Given the description of an element on the screen output the (x, y) to click on. 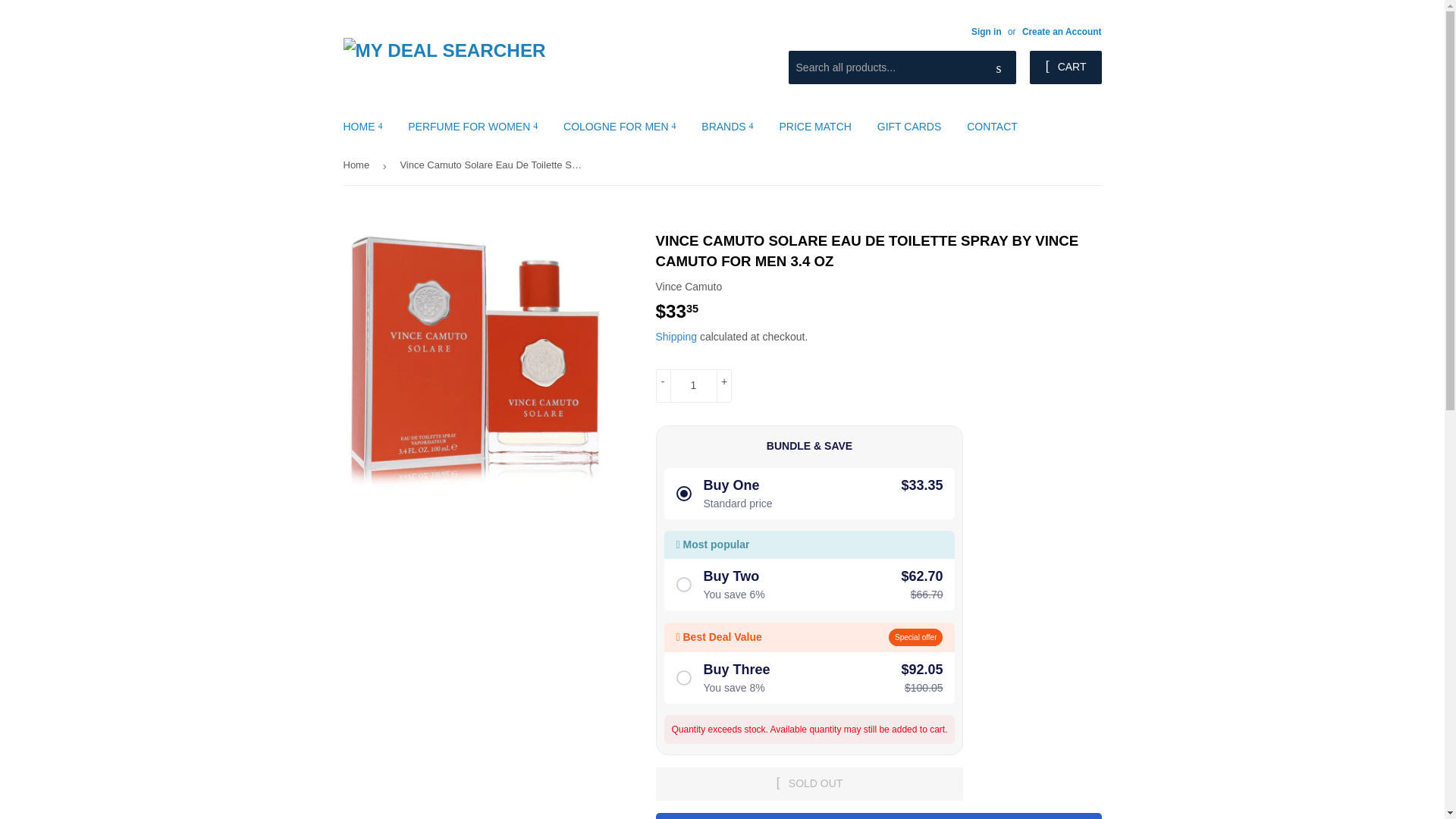
CART (1064, 67)
Sign in (986, 31)
Search (998, 68)
1 (692, 385)
Create an Account (1062, 31)
